Given the description of an element on the screen output the (x, y) to click on. 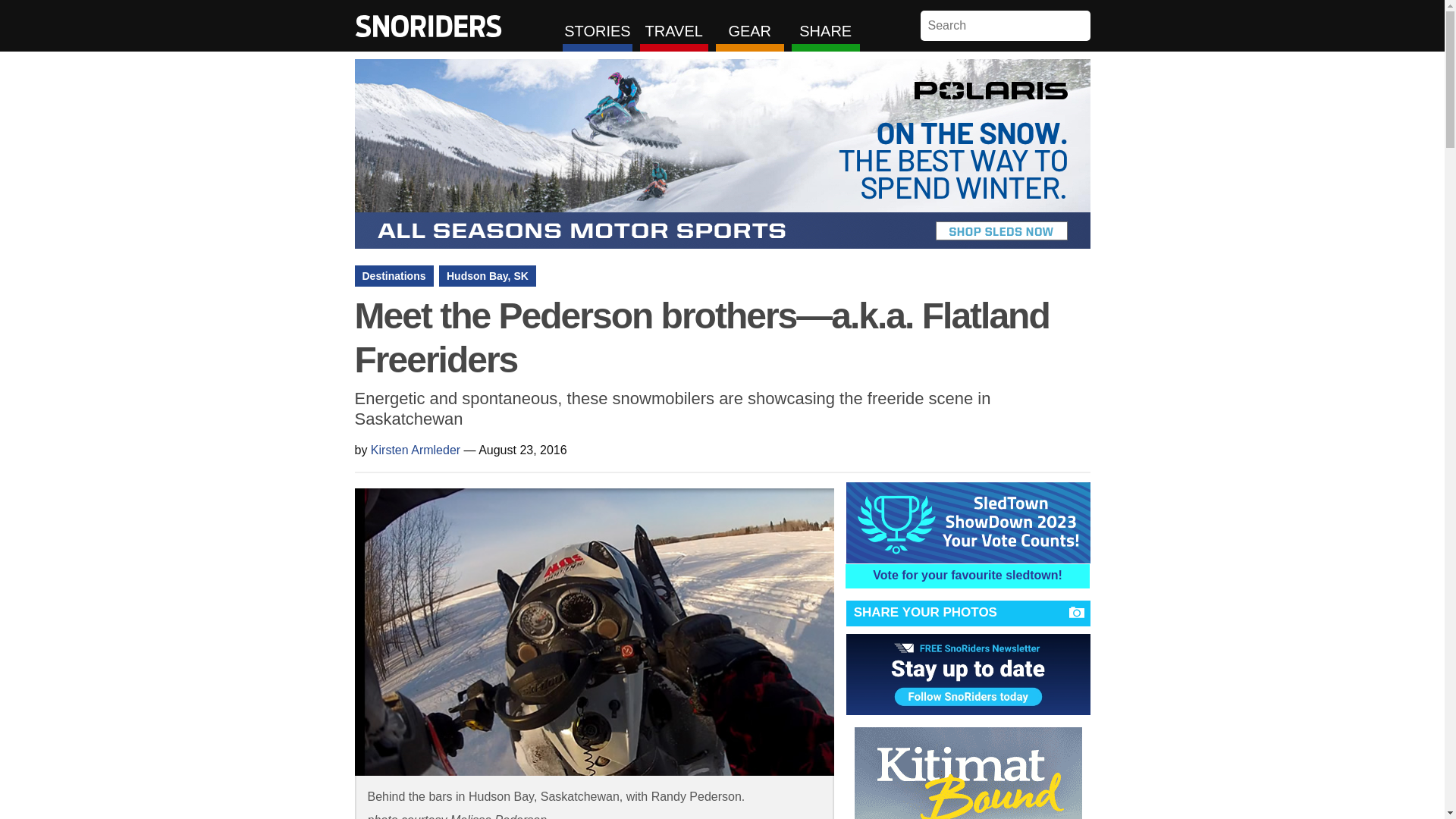
Kirsten Armleder (415, 449)
SHARE (826, 25)
SHARE YOUR PHOTOS (967, 613)
TRAVEL (673, 25)
GEAR (750, 25)
STORIES (596, 25)
SnoRiders (428, 25)
Vote for your favourite sledtown! (967, 576)
Destinations (394, 275)
Hudson Bay, SK (487, 275)
